Given the description of an element on the screen output the (x, y) to click on. 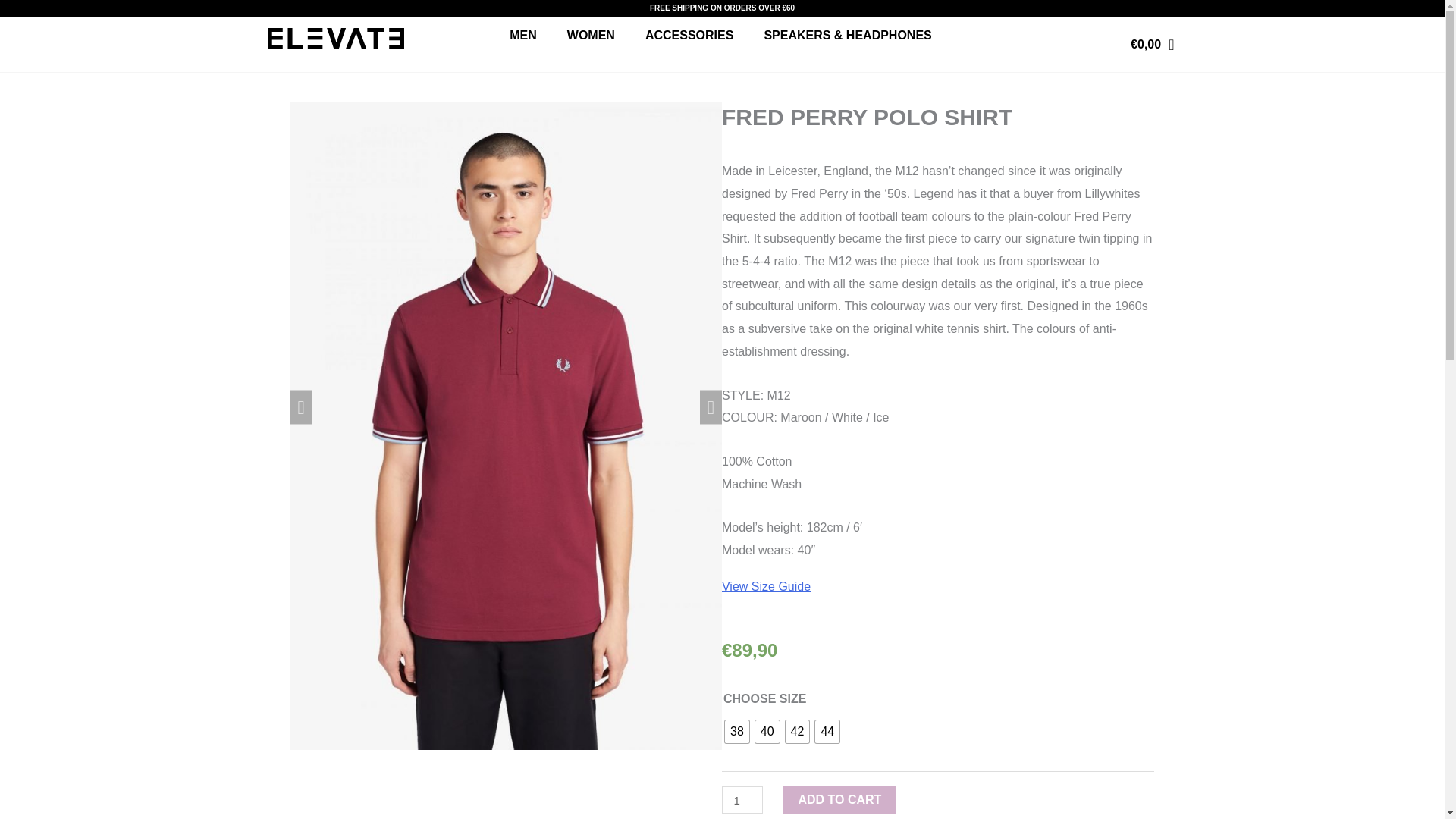
WOMEN (590, 35)
42 (797, 731)
ACCESSORIES (689, 35)
MEN (523, 35)
View Size Guide (766, 585)
ADD TO CART (839, 800)
38 (737, 731)
1 (742, 800)
44 (827, 731)
40 (766, 731)
